Given the description of an element on the screen output the (x, y) to click on. 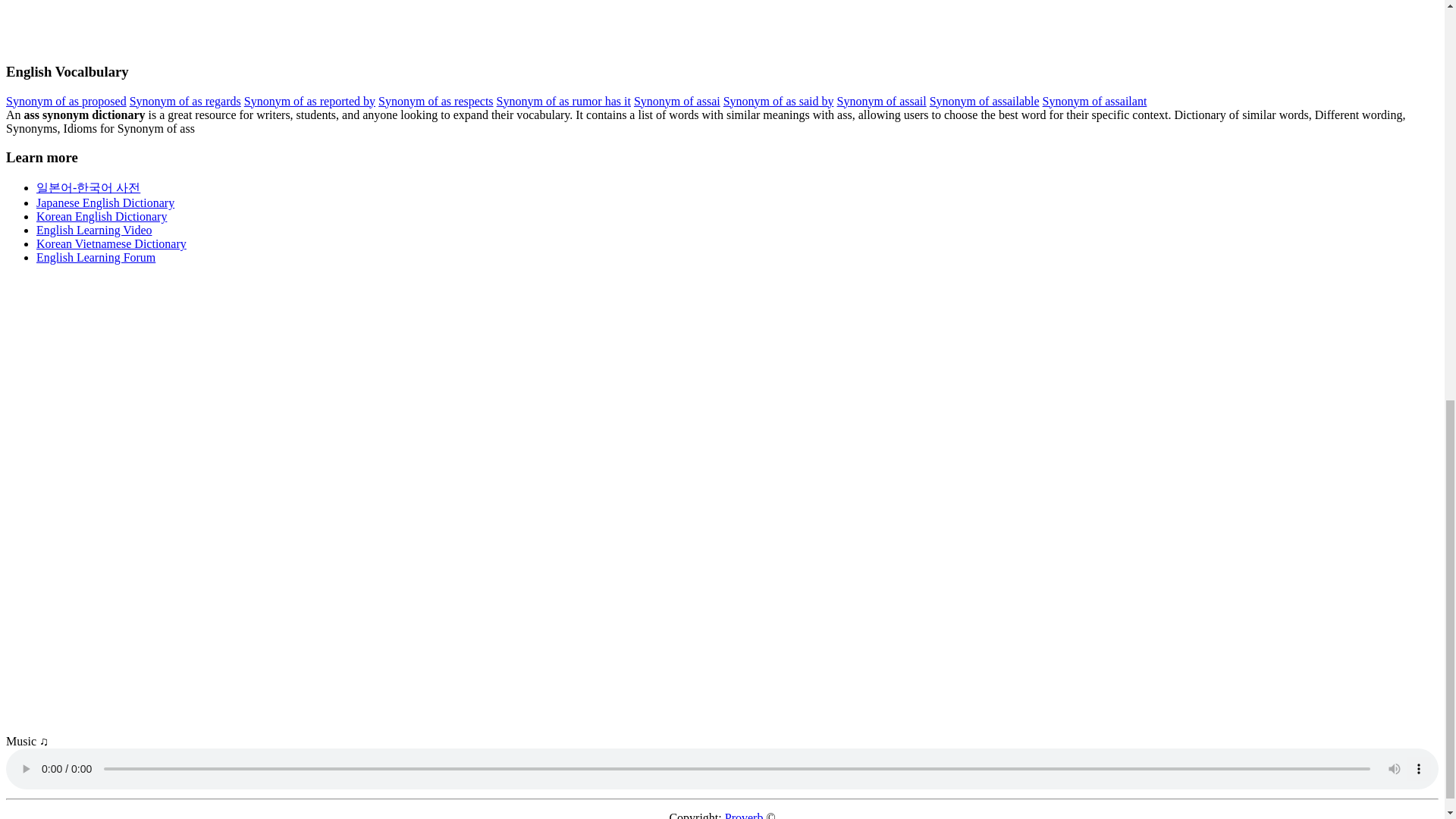
Synonym of as reported by (309, 101)
Synonym of as regards (185, 101)
Synonym of as proposed (65, 101)
